Given the description of an element on the screen output the (x, y) to click on. 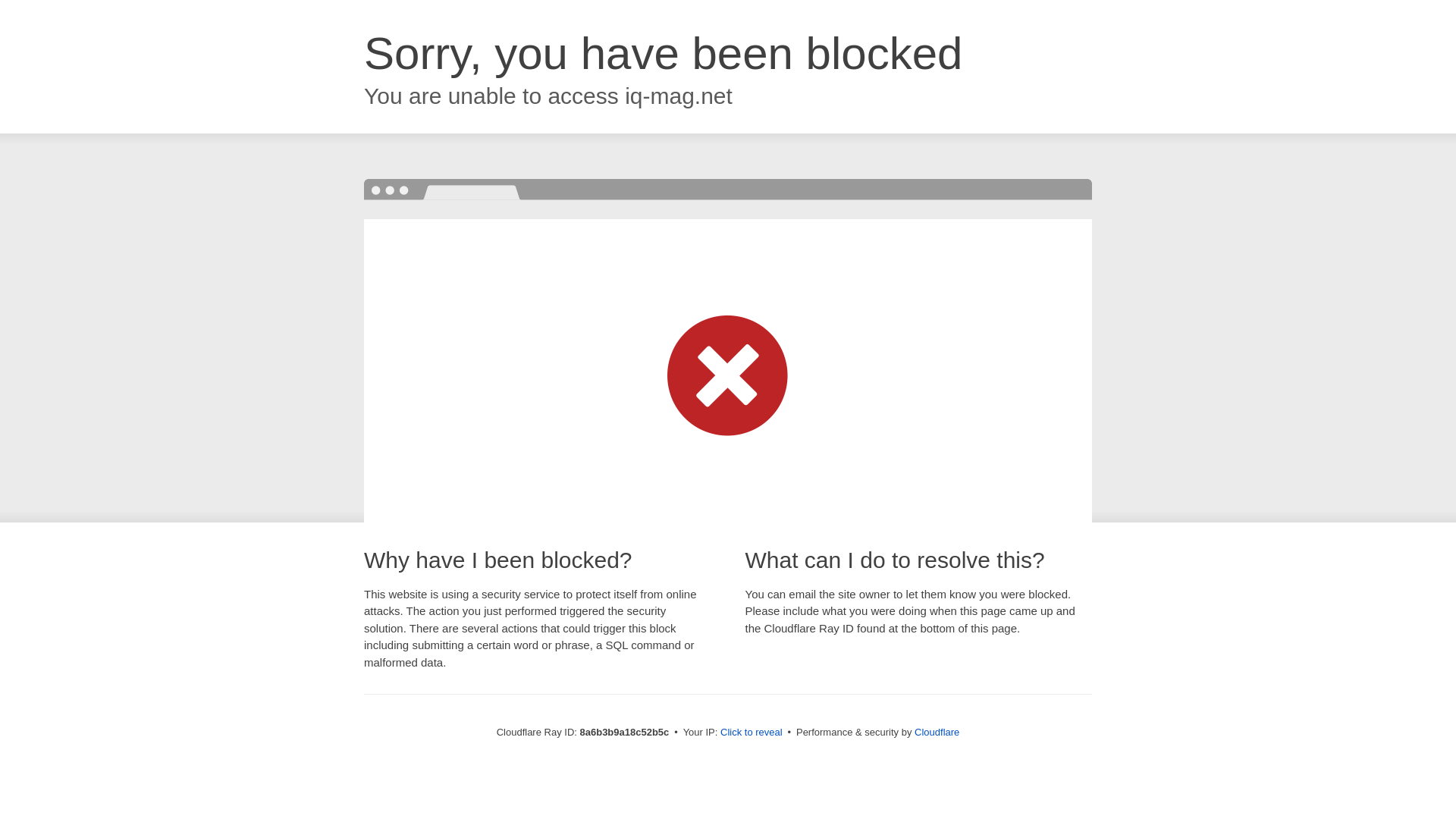
Click to reveal (751, 732)
Cloudflare (936, 731)
